Given the description of an element on the screen output the (x, y) to click on. 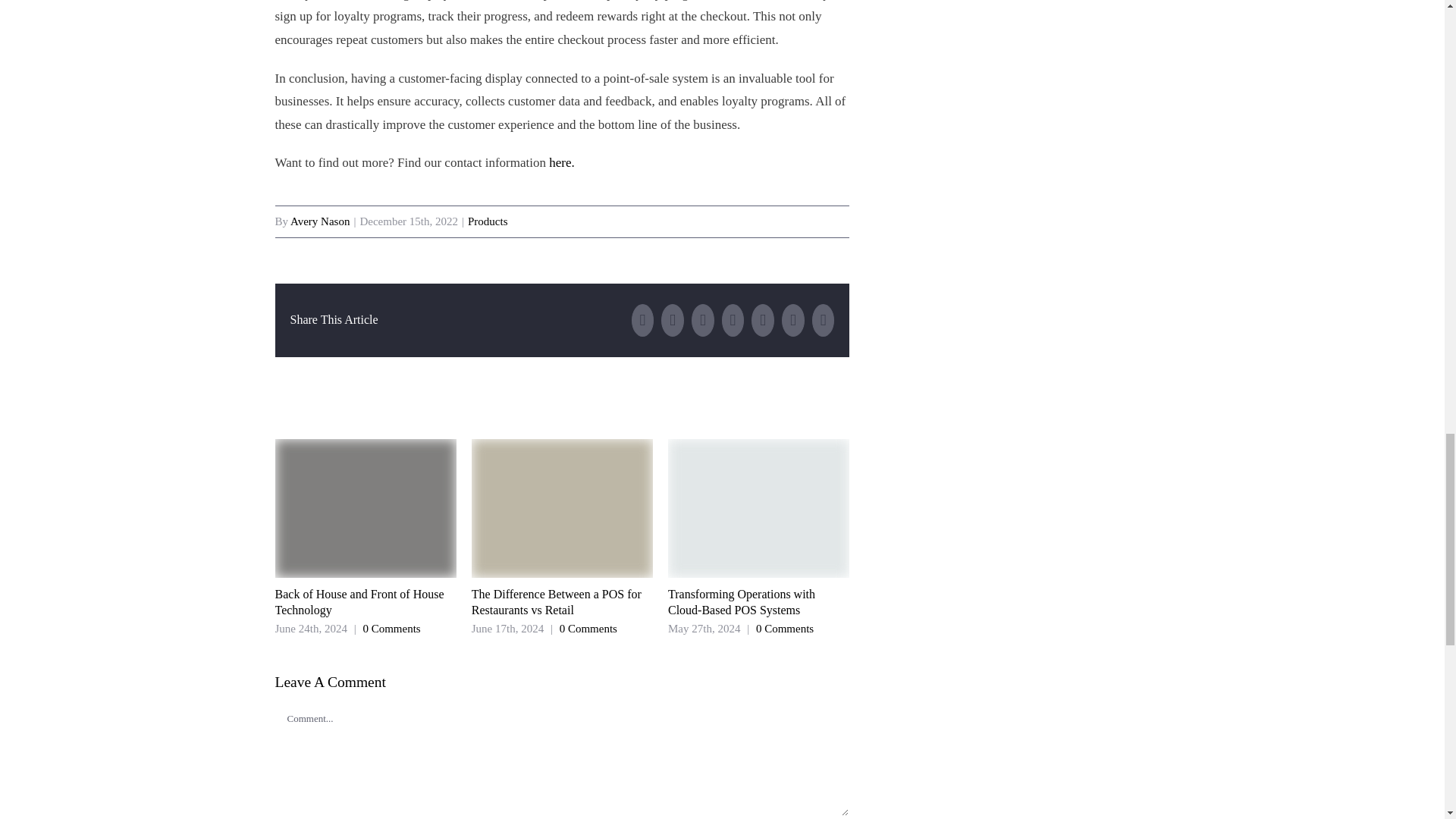
Avery Nason (319, 221)
Posts by Avery Nason (319, 221)
The Difference Between a POS for Restaurants vs Retail (556, 602)
Back of House and Front of House Technology (359, 602)
0 Comments (391, 628)
Products (487, 221)
Transforming Operations with Cloud-Based POS Systems (741, 602)
here. (561, 162)
Back of House and Front of House Technology (359, 602)
